Given the description of an element on the screen output the (x, y) to click on. 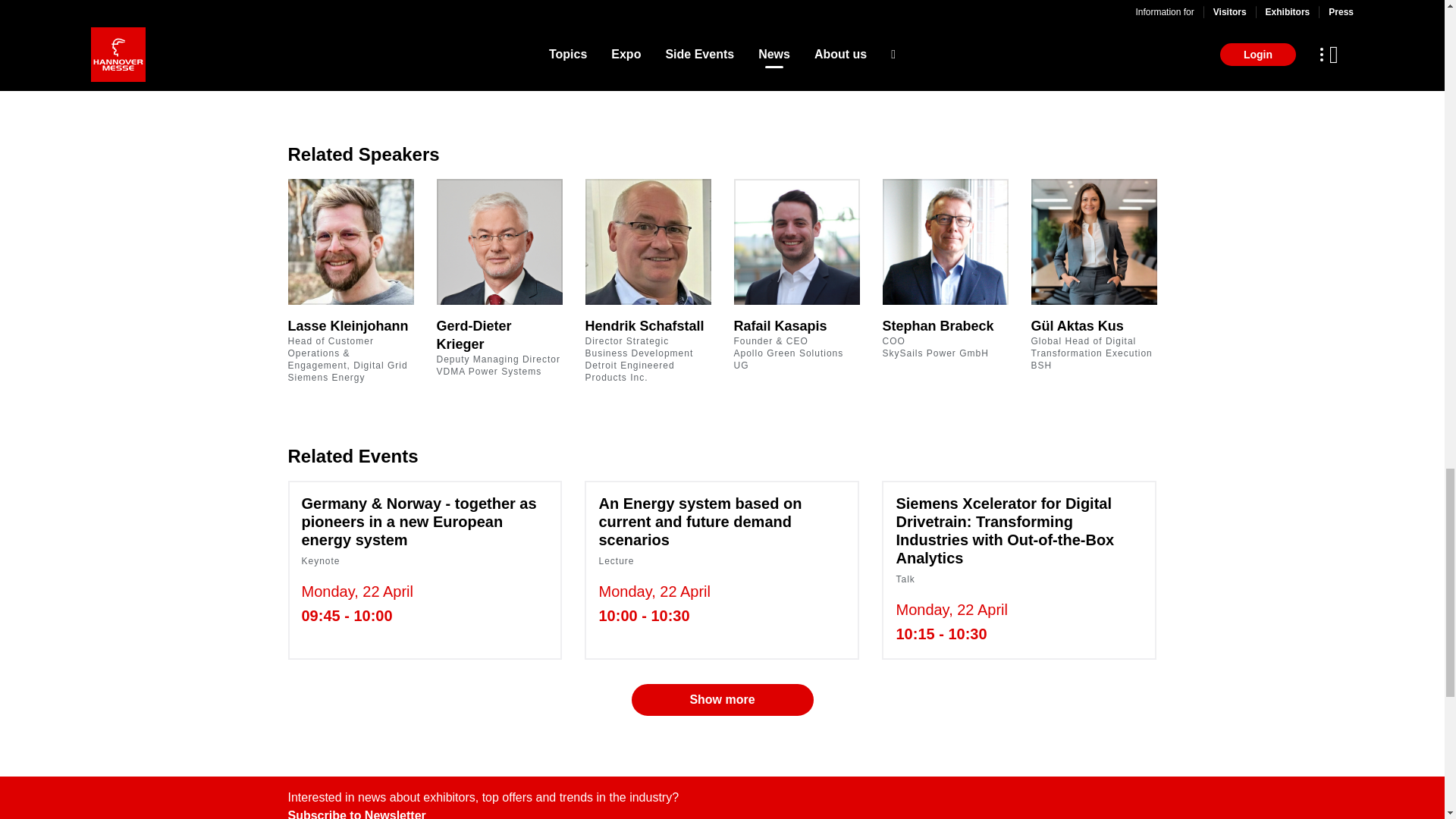
Bundesministerium Bildung u. Forschung (498, 18)
Inhouse engineering (792, 18)
LAPP (939, 18)
Process Sensing Technologies (1086, 18)
Show more (721, 65)
Show more (721, 699)
